Given the description of an element on the screen output the (x, y) to click on. 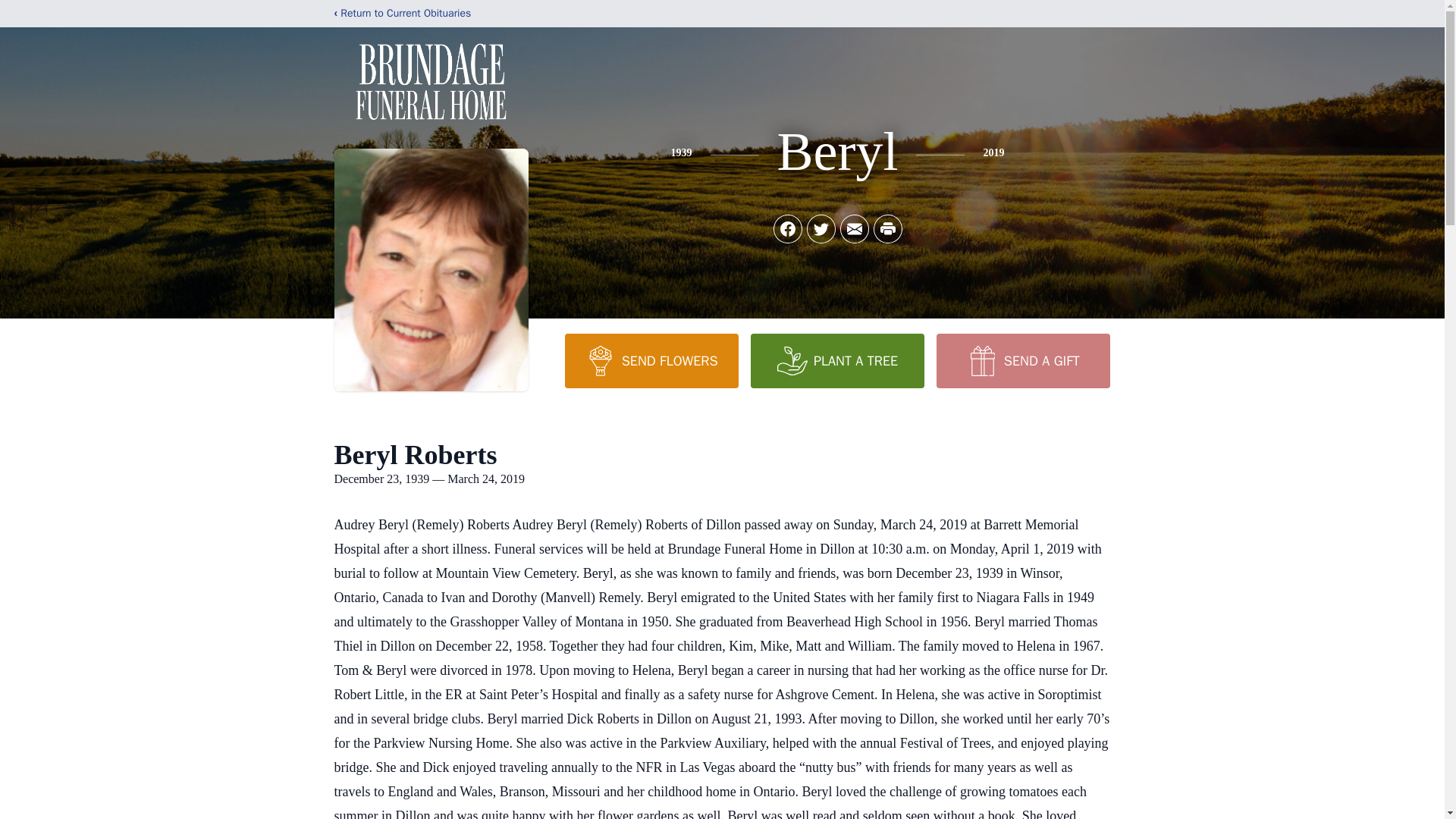
SEND FLOWERS (651, 360)
SEND A GIFT (1022, 360)
PLANT A TREE (837, 360)
